Given the description of an element on the screen output the (x, y) to click on. 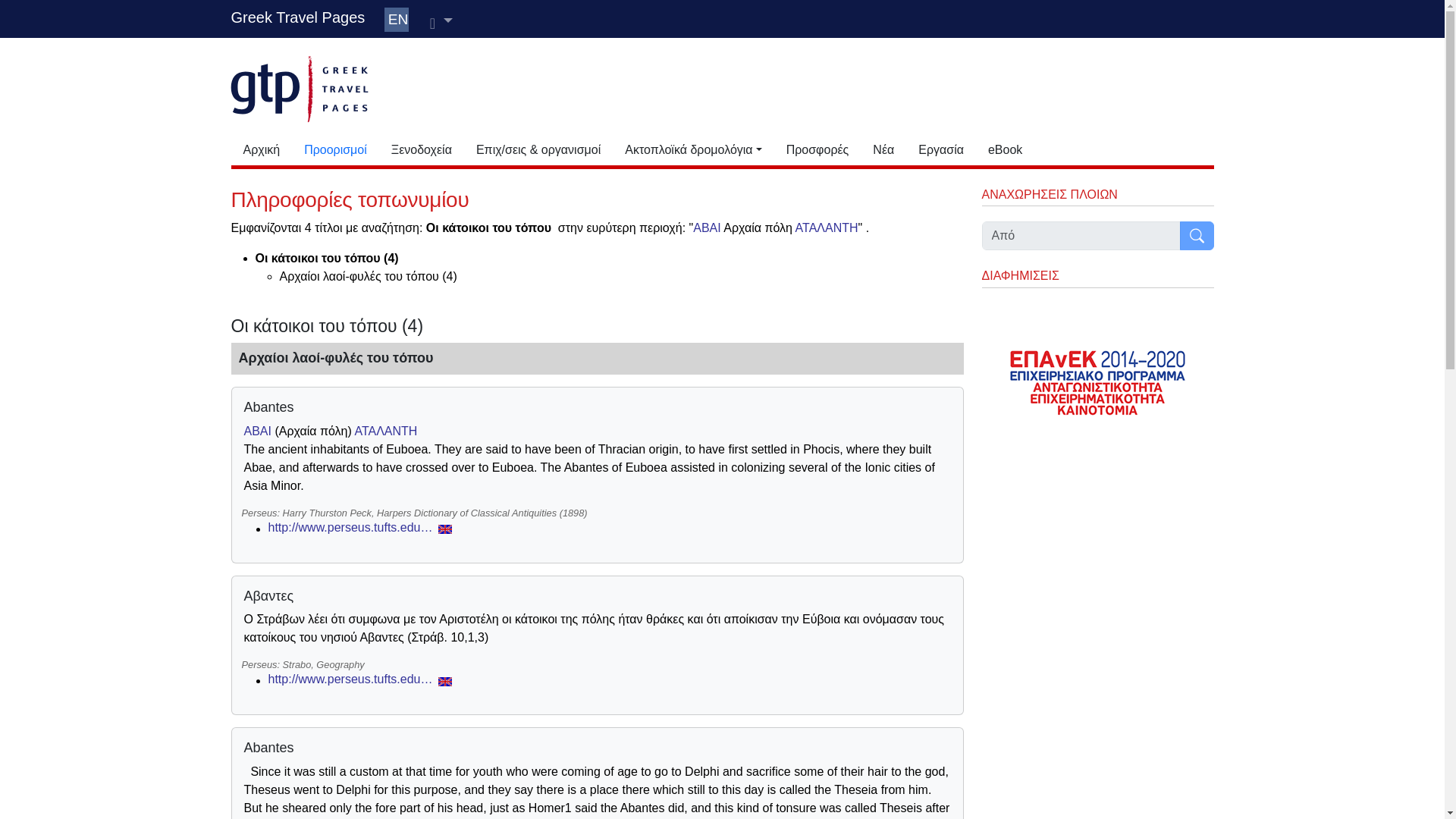
EN (396, 19)
3rd party ad content (772, 87)
Greek Travel Pages (297, 16)
